Given the description of an element on the screen output the (x, y) to click on. 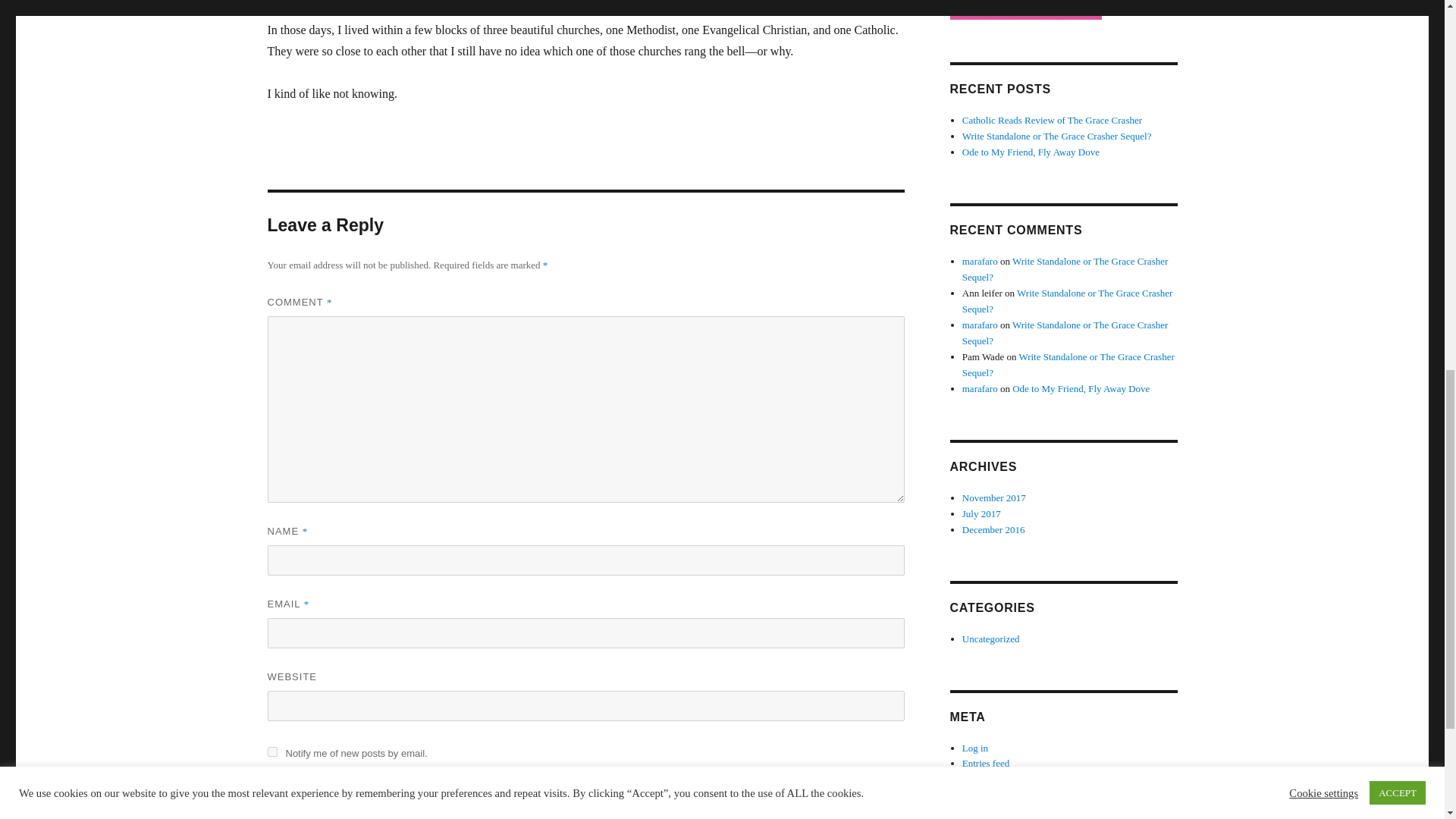
Ode to My Friend, Fly Away Dove (1080, 388)
December 2016 (993, 529)
Post Comment (330, 791)
Write Standalone or The Grace Crasher Sequel? (1065, 332)
November 2017 (994, 497)
marafaro (979, 324)
Write Standalone or The Grace Crasher Sequel? (1056, 135)
Uncategorized (991, 638)
Ode to My Friend, Fly Away Dove (1030, 152)
subscribe (271, 751)
